Given the description of an element on the screen output the (x, y) to click on. 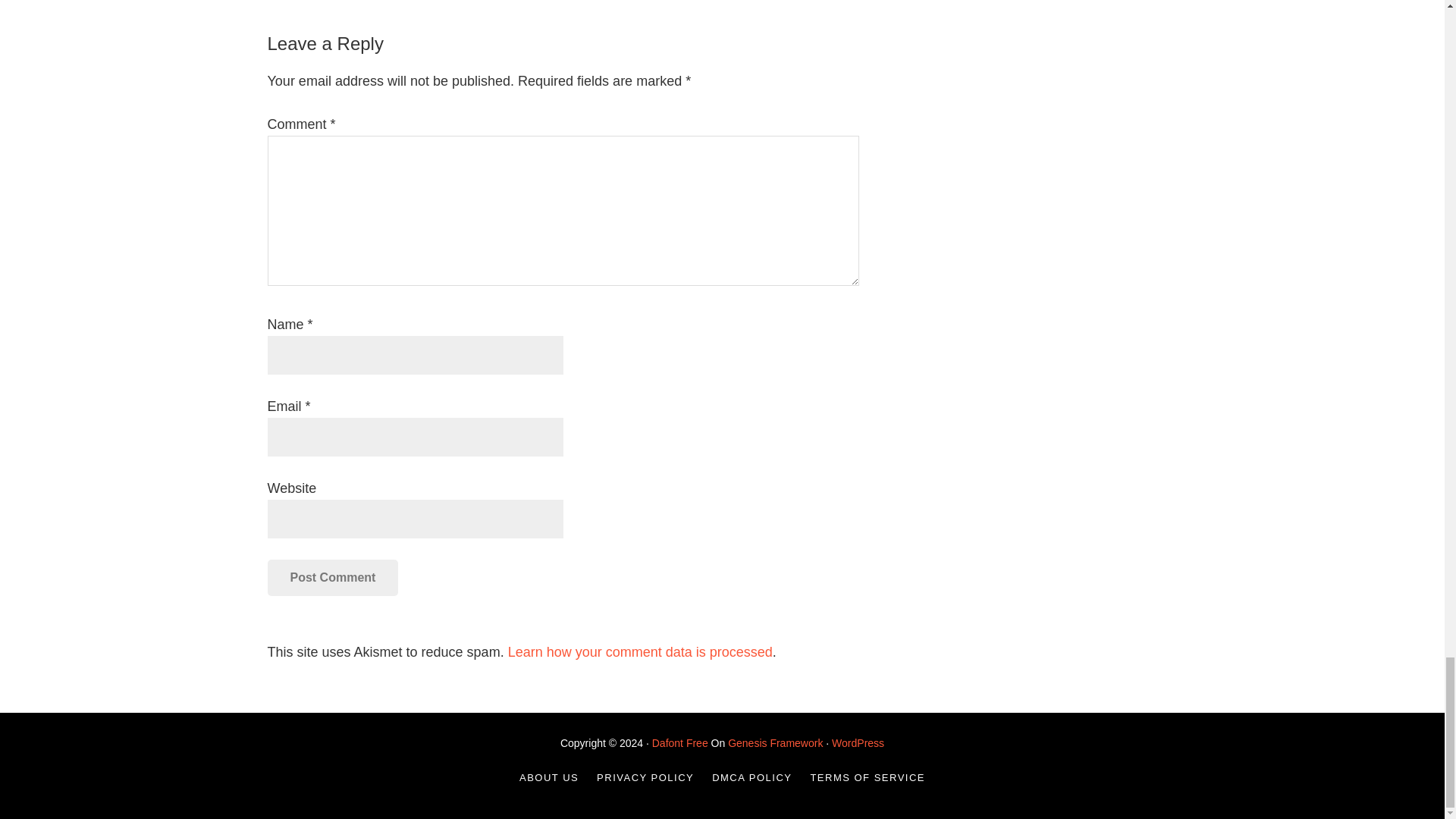
Post Comment (331, 577)
Post Comment (331, 577)
Learn how your comment data is processed (640, 652)
